Given the description of an element on the screen output the (x, y) to click on. 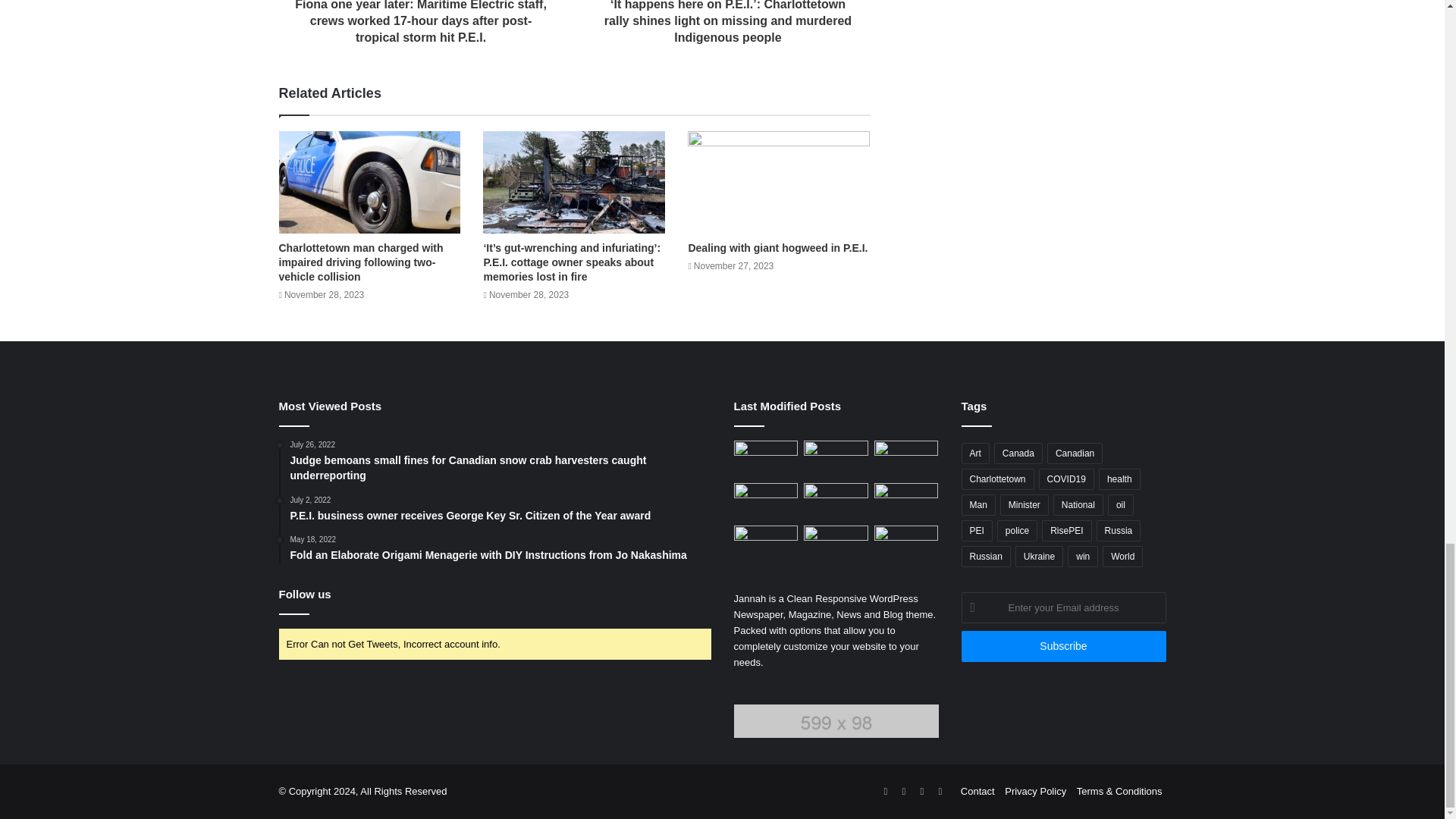
Subscribe (1063, 645)
